Given the description of an element on the screen output the (x, y) to click on. 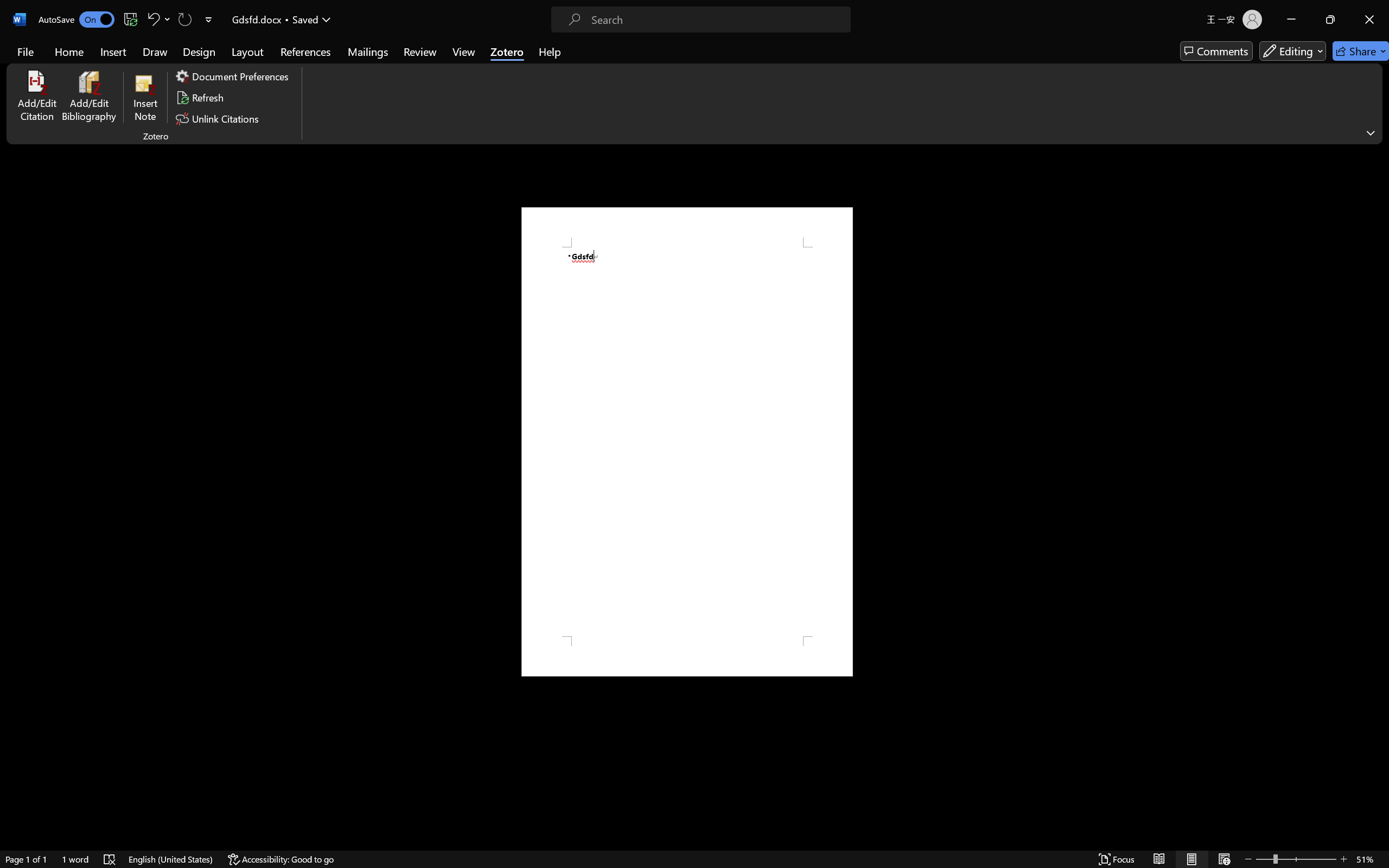
Move Later (1293, 77)
Appear (106, 60)
Accessibility (1377, 156)
None (62, 60)
Random Bars (462, 60)
Pulse (684, 60)
Restore Down (1350, 10)
Less (1254, 79)
Teeter (773, 60)
